Given the description of an element on the screen output the (x, y) to click on. 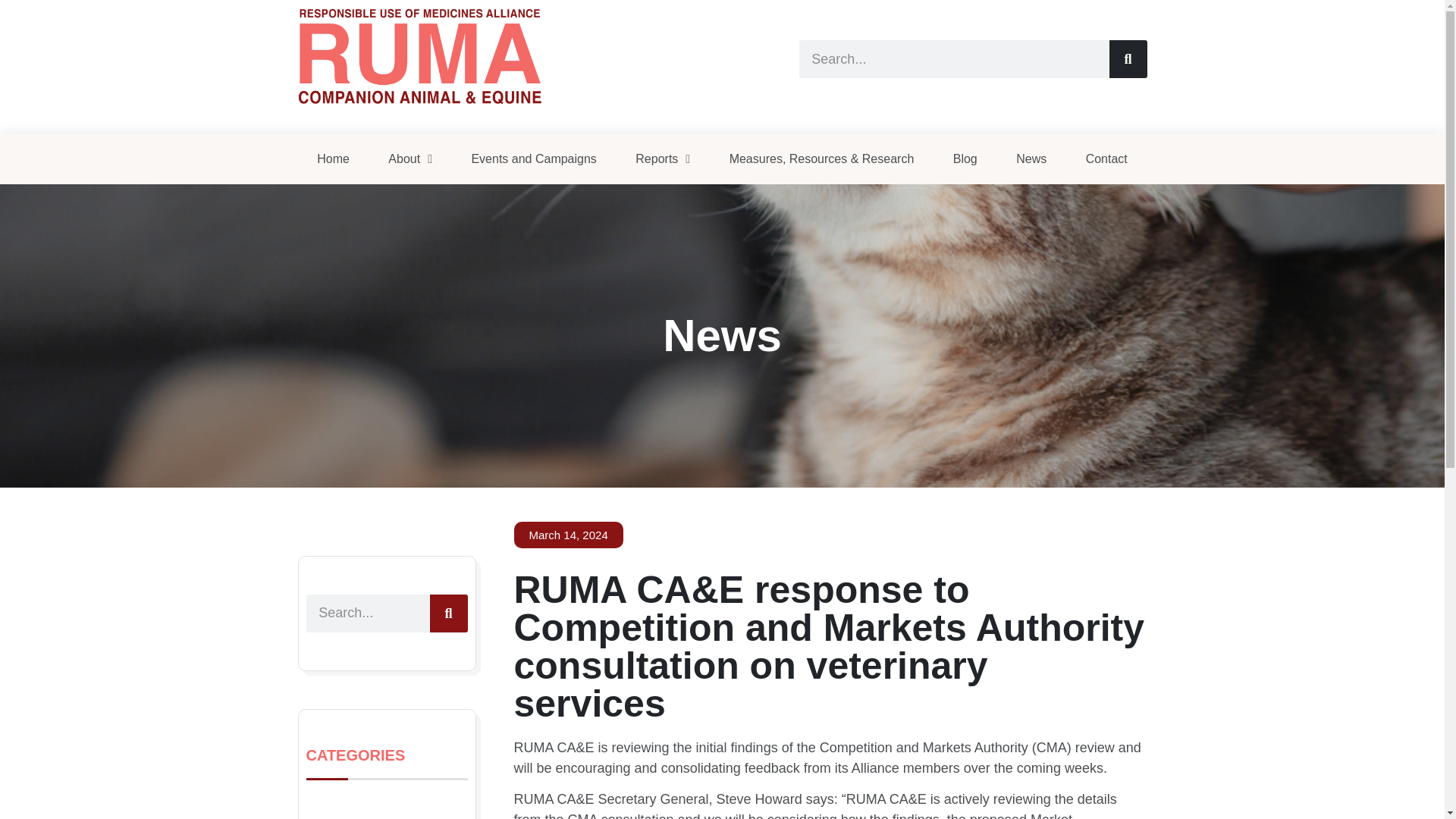
Blog (964, 158)
Reports (662, 158)
Events and Campaigns (533, 158)
About (410, 158)
March 14, 2024 (568, 534)
Home (332, 158)
Contact (1106, 158)
News (1030, 158)
